Given the description of an element on the screen output the (x, y) to click on. 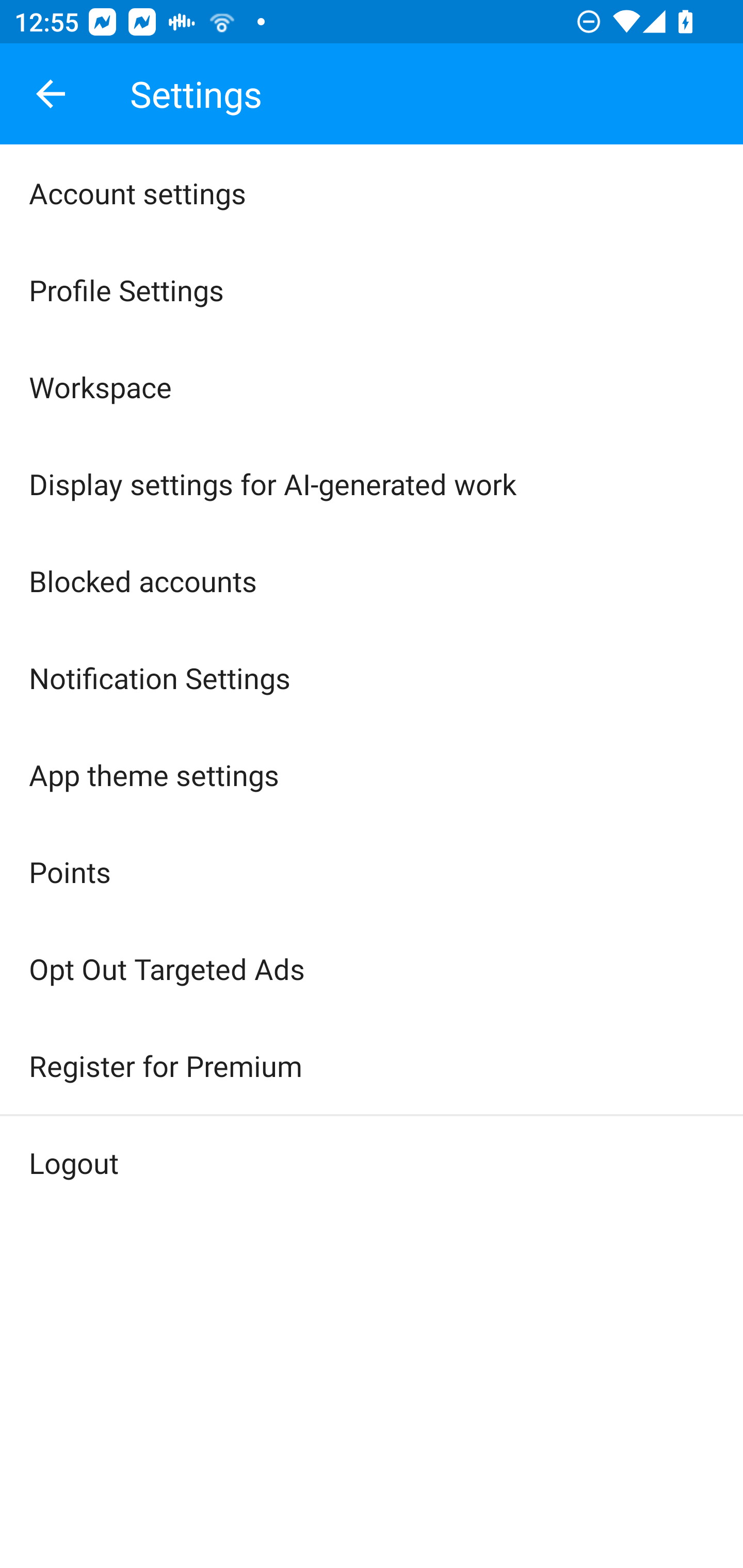
Navigate up (50, 93)
Account settings (371, 192)
Profile Settings (371, 289)
Workspace (371, 386)
Display settings for AI-generated work (371, 483)
Blocked accounts (371, 579)
Notification Settings (371, 676)
App theme settings (371, 774)
Points (371, 871)
Opt Out Targeted Ads (371, 968)
Register for Premium (371, 1065)
Logout (371, 1162)
